Given the description of an element on the screen output the (x, y) to click on. 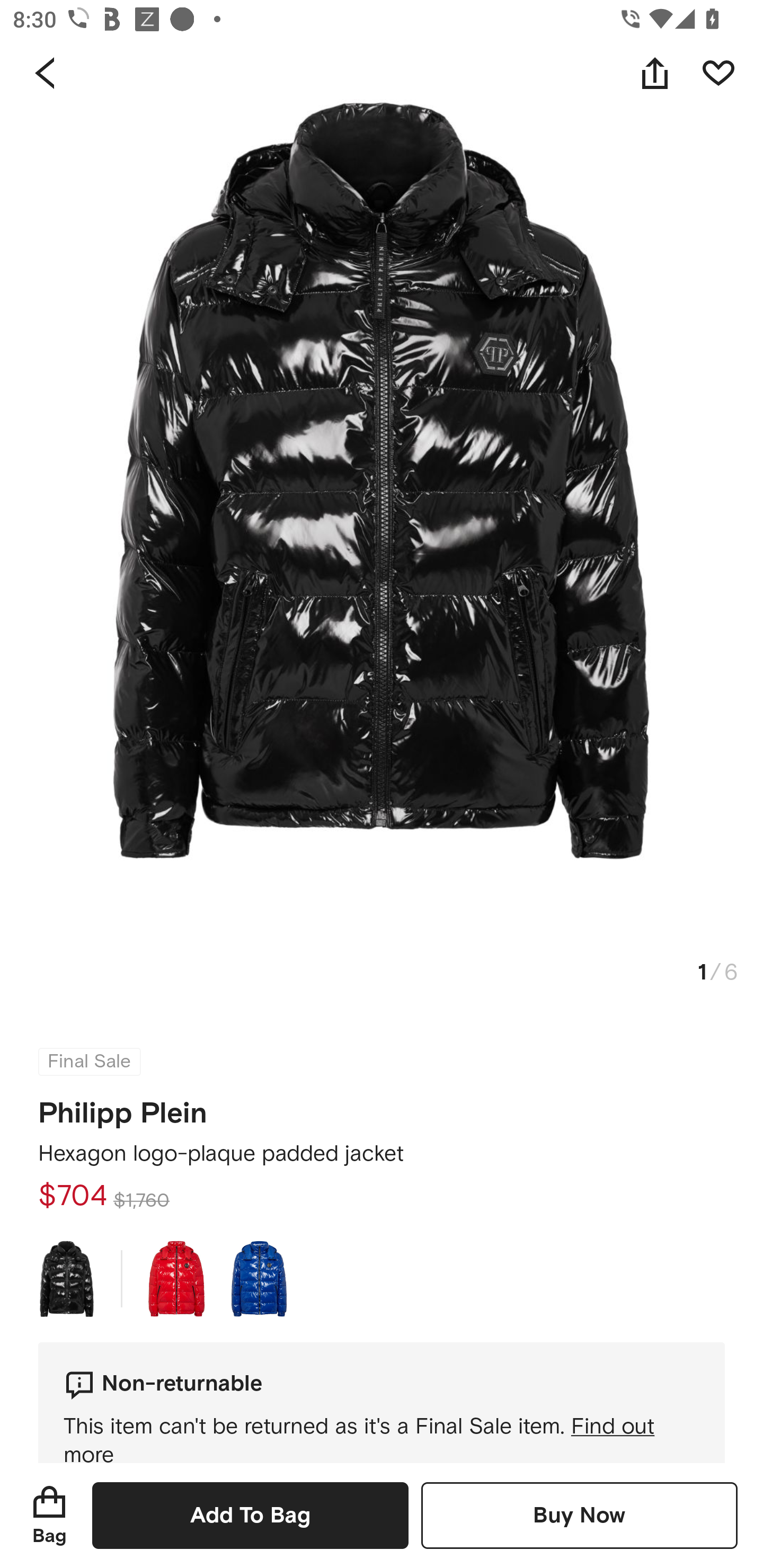
Philipp Plein (122, 1107)
Bag (49, 1515)
Add To Bag (250, 1515)
Buy Now (579, 1515)
